Given the description of an element on the screen output the (x, y) to click on. 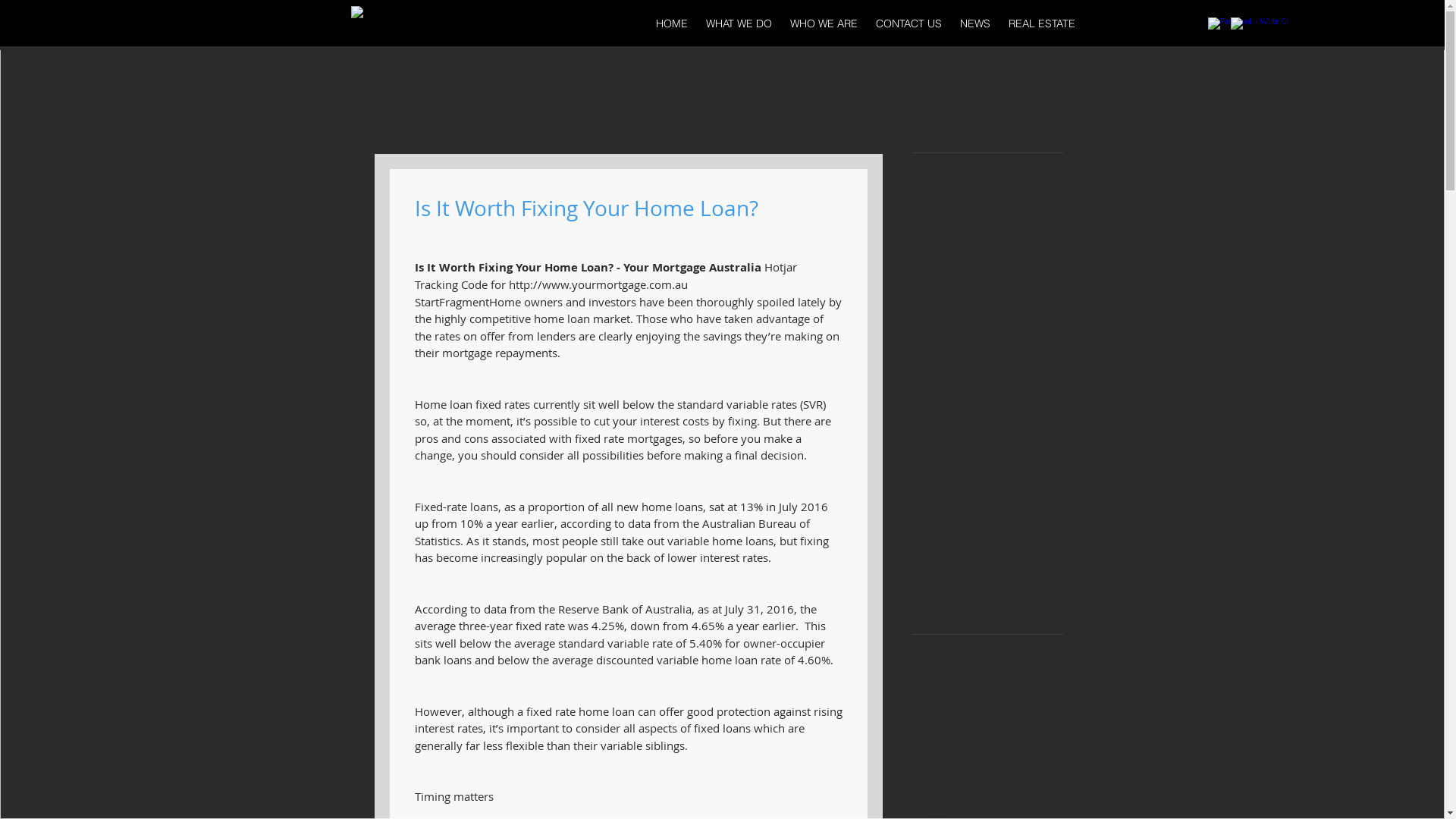
October 2018 (1) Element type: text (993, 759)
November 2018 (2) Element type: text (993, 742)
Westpac abandons financial advice Element type: text (983, 235)
Logo_Fund Protect_rgb.jpg Element type: hover (453, 24)
August 2019 (1) Element type: text (993, 656)
CONTACT US Element type: text (908, 23)
December 2018 (2) Element type: text (993, 725)
March 2019 (3) Element type: text (993, 674)
Two RBA rate cuts expected for 2019 Element type: text (983, 316)
HOME Element type: text (671, 23)
WHAT WE DO Element type: text (738, 23)
RBA announces February cash rate Element type: text (983, 357)
NEWS Element type: text (974, 23)
February 2019 (2) Element type: text (993, 690)
RBA announces pre-Christmas cash rate Element type: text (983, 521)
RBA announces March cash rate Element type: text (983, 275)
January 2019 (1) Element type: text (993, 708)
September 2018 (2) Element type: text (993, 776)
APRA adds 14pc to Borrower Firepower Element type: text (983, 194)
WHO WE ARE Element type: text (823, 23)
August 2018 (4) Element type: text (993, 793)
REAL ESTATE Element type: text (1041, 23)
